Given the description of an element on the screen output the (x, y) to click on. 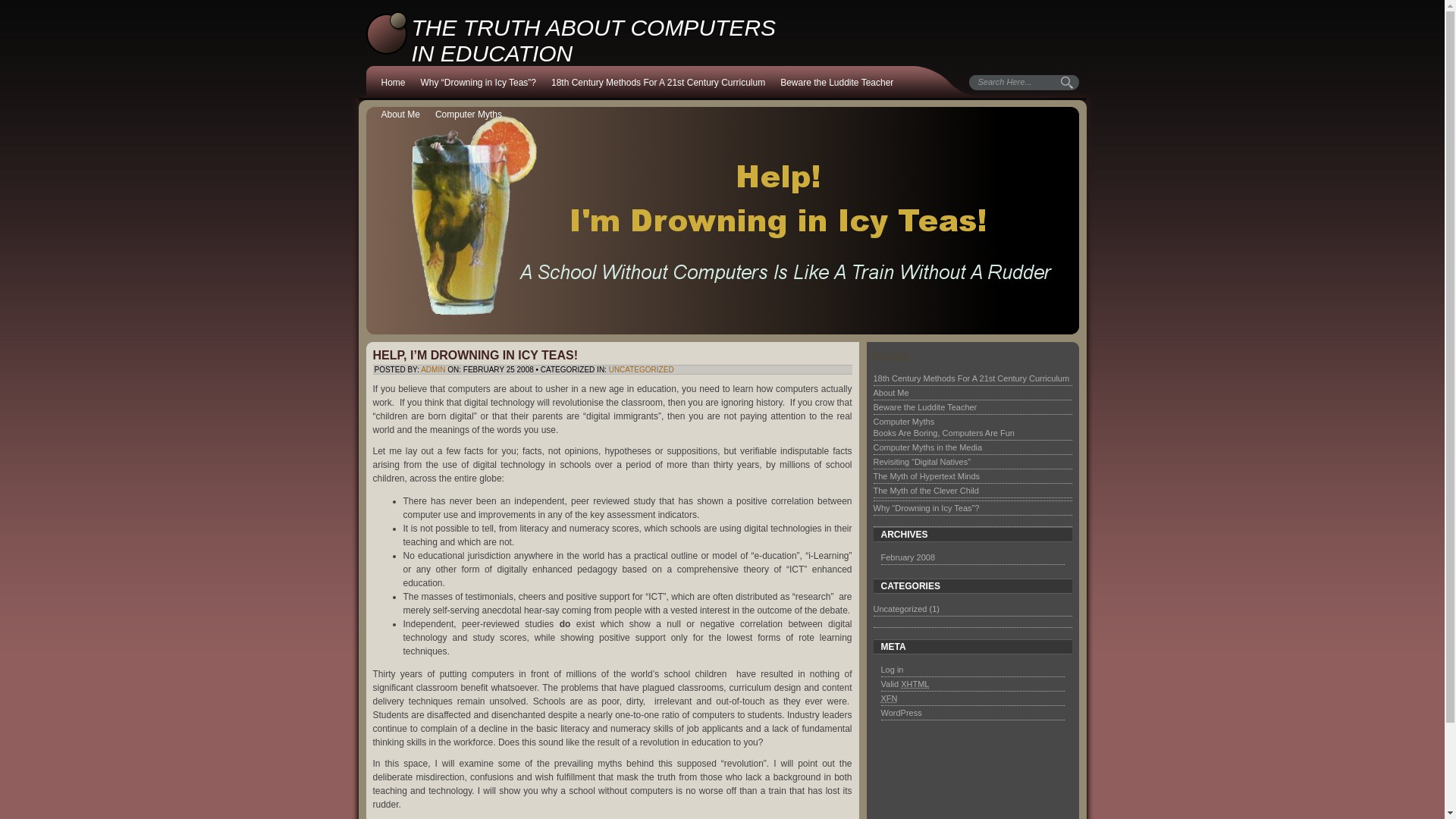
Valid XHTML (905, 684)
UNCATEGORIZED (641, 369)
Search Here... (1022, 81)
18th Century Methods For A 21st Century Curriculum (658, 83)
eXtensible HyperText Markup Language (914, 683)
Computer Myths in the Media (927, 447)
Beware the Luddite Teacher (836, 83)
About Me (399, 115)
Beware the Luddite Teacher (924, 407)
